Given the description of an element on the screen output the (x, y) to click on. 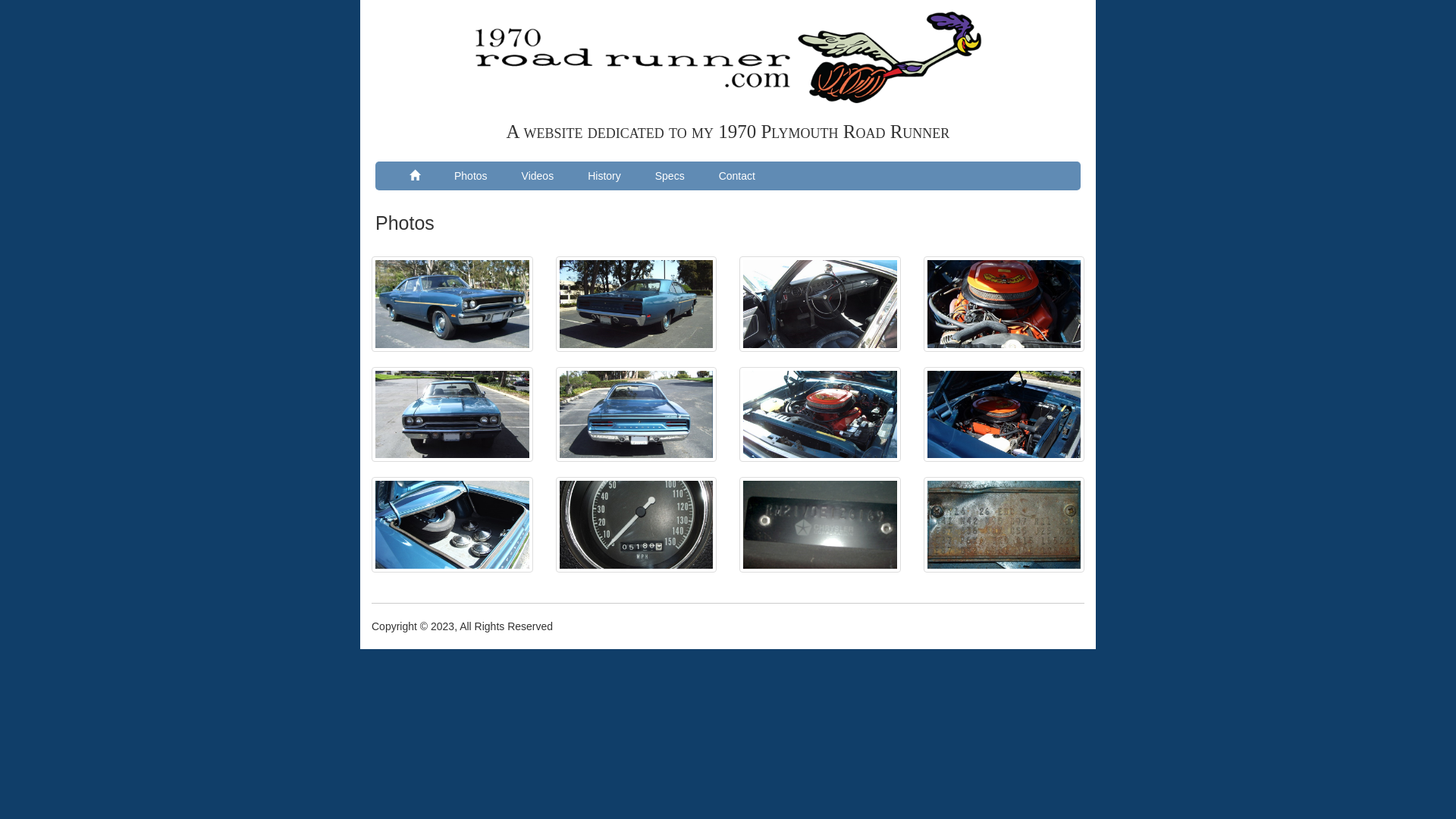
History Element type: text (604, 175)
Specs Element type: text (669, 175)
Photos Element type: text (470, 175)
Contact Element type: text (736, 175)
440 Six Pack Element type: hover (1004, 303)
Videos Element type: text (537, 175)
